Given the description of an element on the screen output the (x, y) to click on. 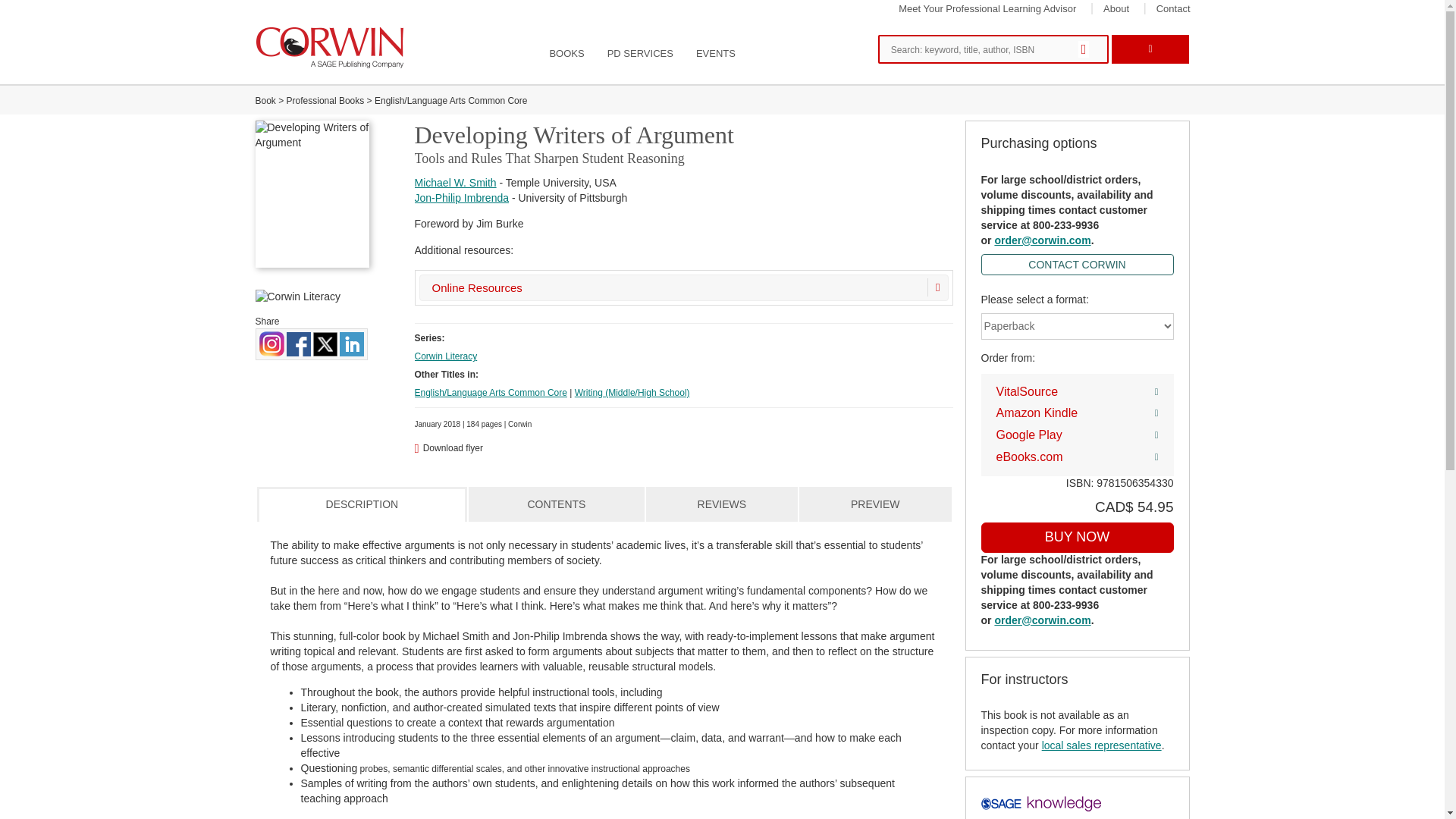
Home (330, 47)
About (1116, 8)
BOOKS (566, 53)
Contact (1173, 8)
Search (1087, 50)
Meet Your Professional Learning Advisor (986, 8)
Buy now (1077, 537)
